Given the description of an element on the screen output the (x, y) to click on. 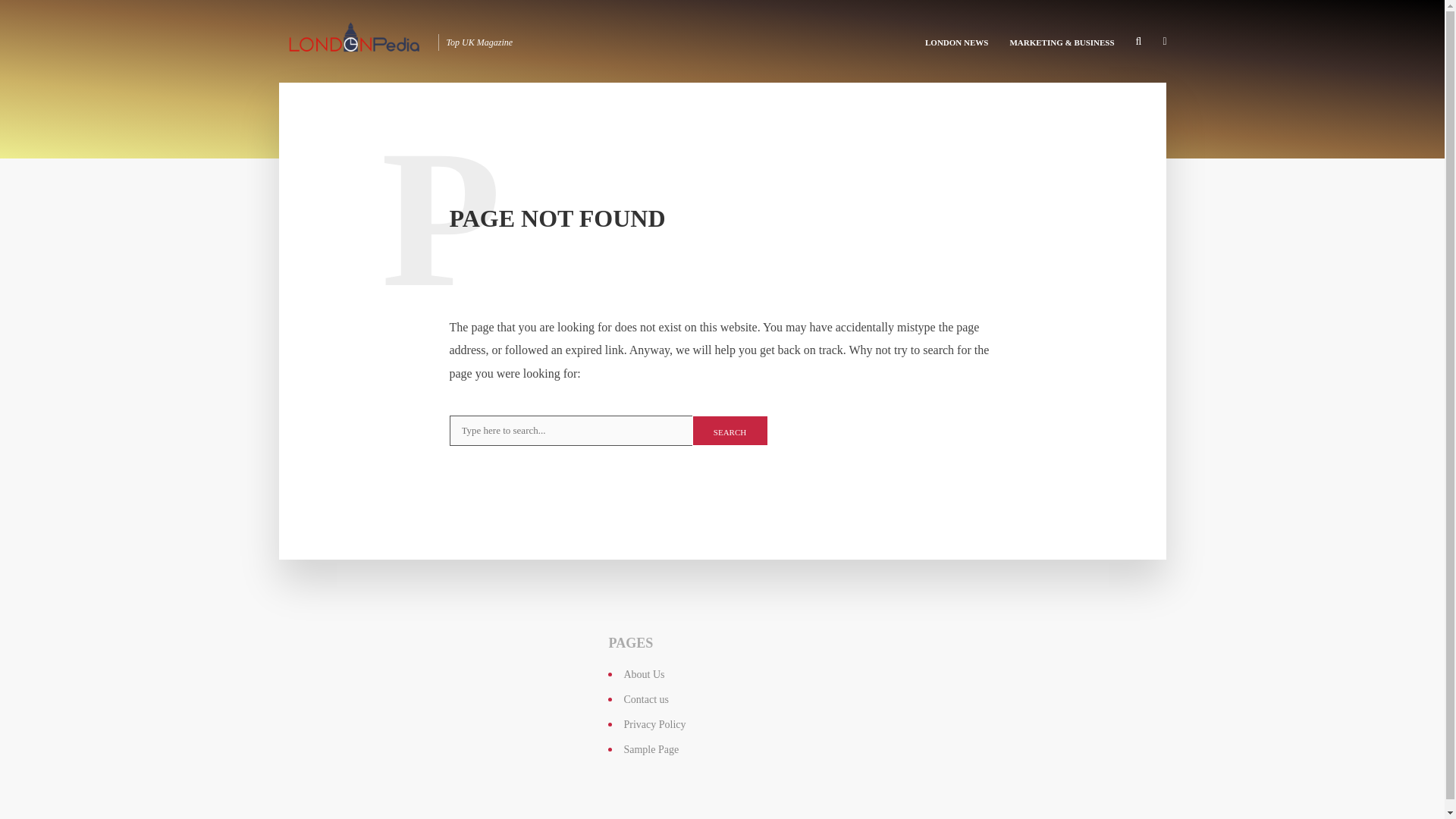
Sample Page (650, 749)
Privacy Policy (654, 724)
LONDON NEWS (956, 41)
Contact us (645, 699)
About Us (643, 674)
SEARCH (729, 430)
